Given the description of an element on the screen output the (x, y) to click on. 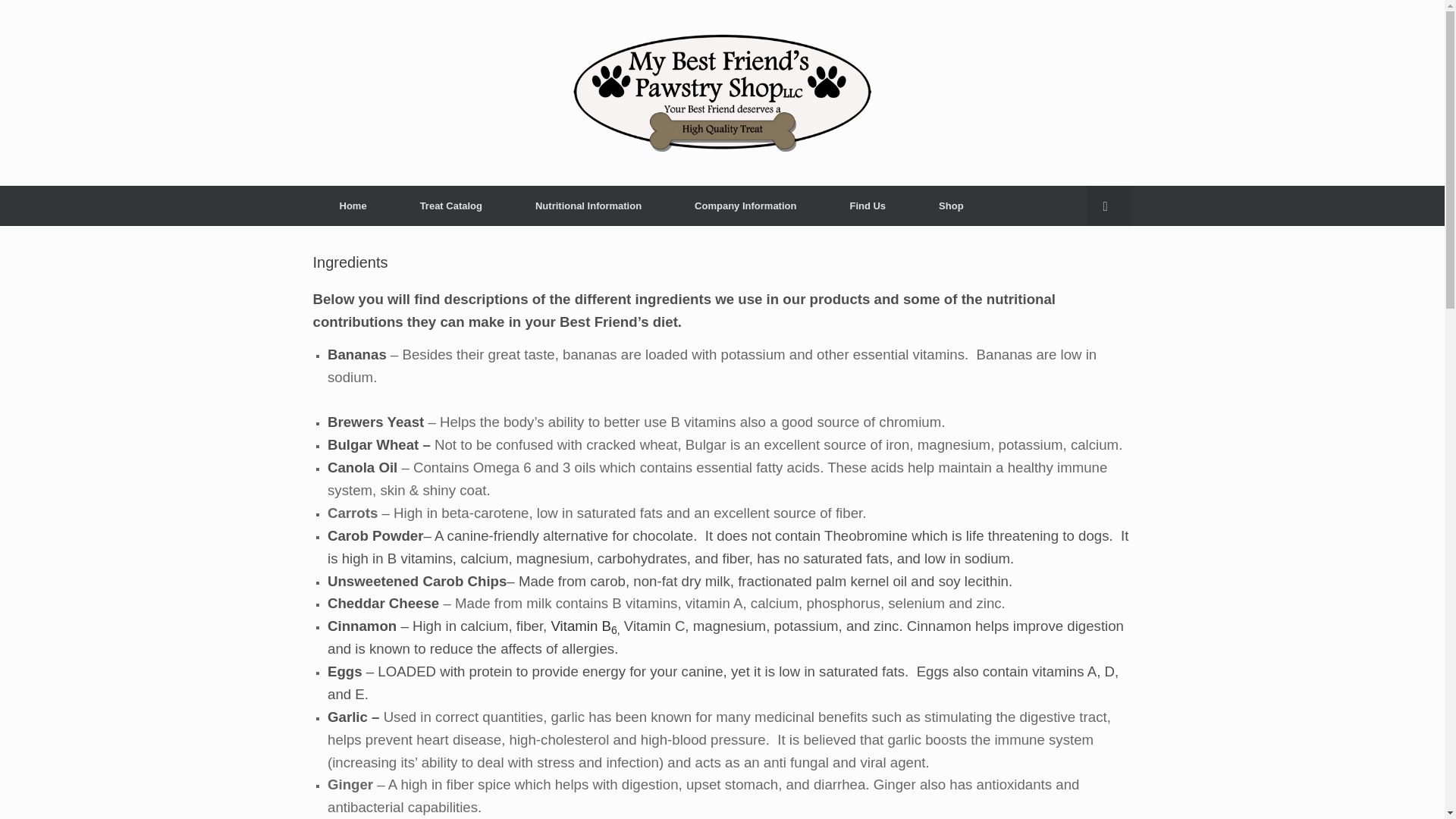
Nutritional Information (588, 205)
Treat Catalog (450, 205)
Home (353, 205)
Shop (951, 205)
My Best Friend's Pawstry Shop (722, 92)
Find Us (867, 205)
Company Information (745, 205)
